Given the description of an element on the screen output the (x, y) to click on. 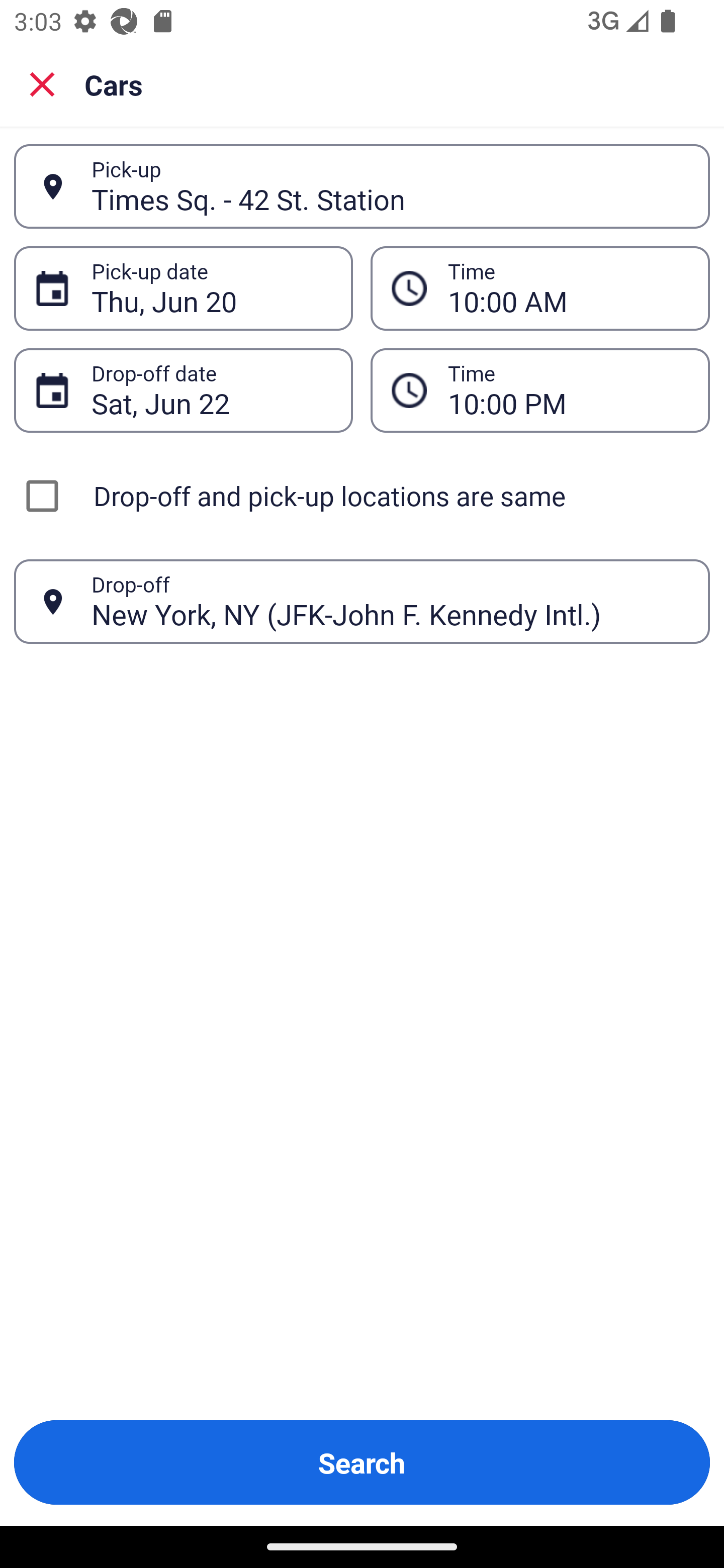
Close search screen (41, 83)
Times Sq. - 42 St. Station Pick-up (361, 186)
Times Sq. - 42 St. Station (389, 186)
Thu, Jun 20 Pick-up date (183, 288)
10:00 AM (540, 288)
Thu, Jun 20 (211, 288)
10:00 AM (568, 288)
Sat, Jun 22 Drop-off date (183, 390)
10:00 PM (540, 390)
Sat, Jun 22 (211, 390)
10:00 PM (568, 390)
Drop-off and pick-up locations are same (361, 495)
New York, NY (JFK-John F. Kennedy Intl.) Drop-off (361, 601)
New York, NY (JFK-John F. Kennedy Intl.) (389, 601)
Search Button Search (361, 1462)
